Given the description of an element on the screen output the (x, y) to click on. 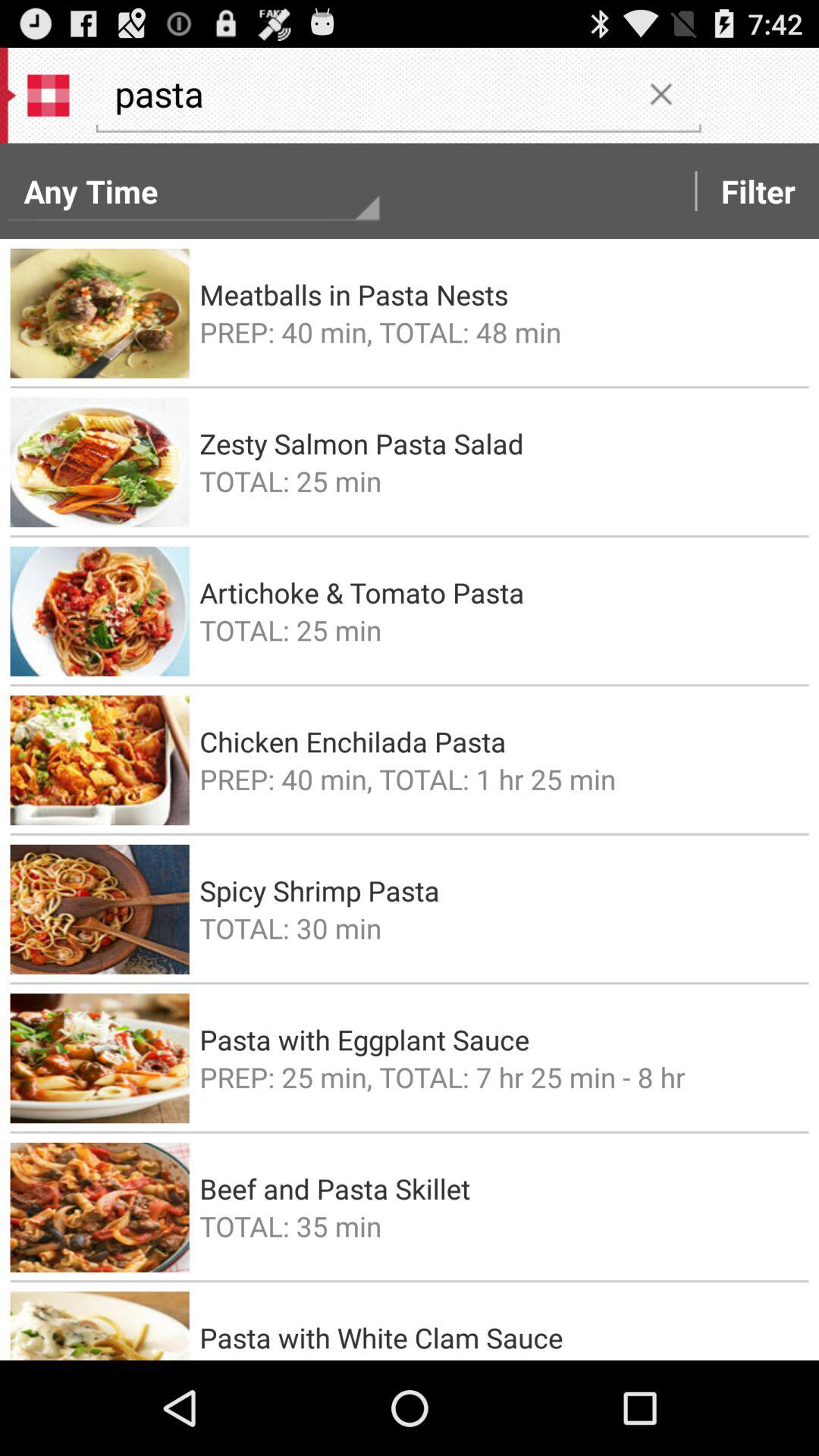
select the item above prep 40 min (498, 741)
